Given the description of an element on the screen output the (x, y) to click on. 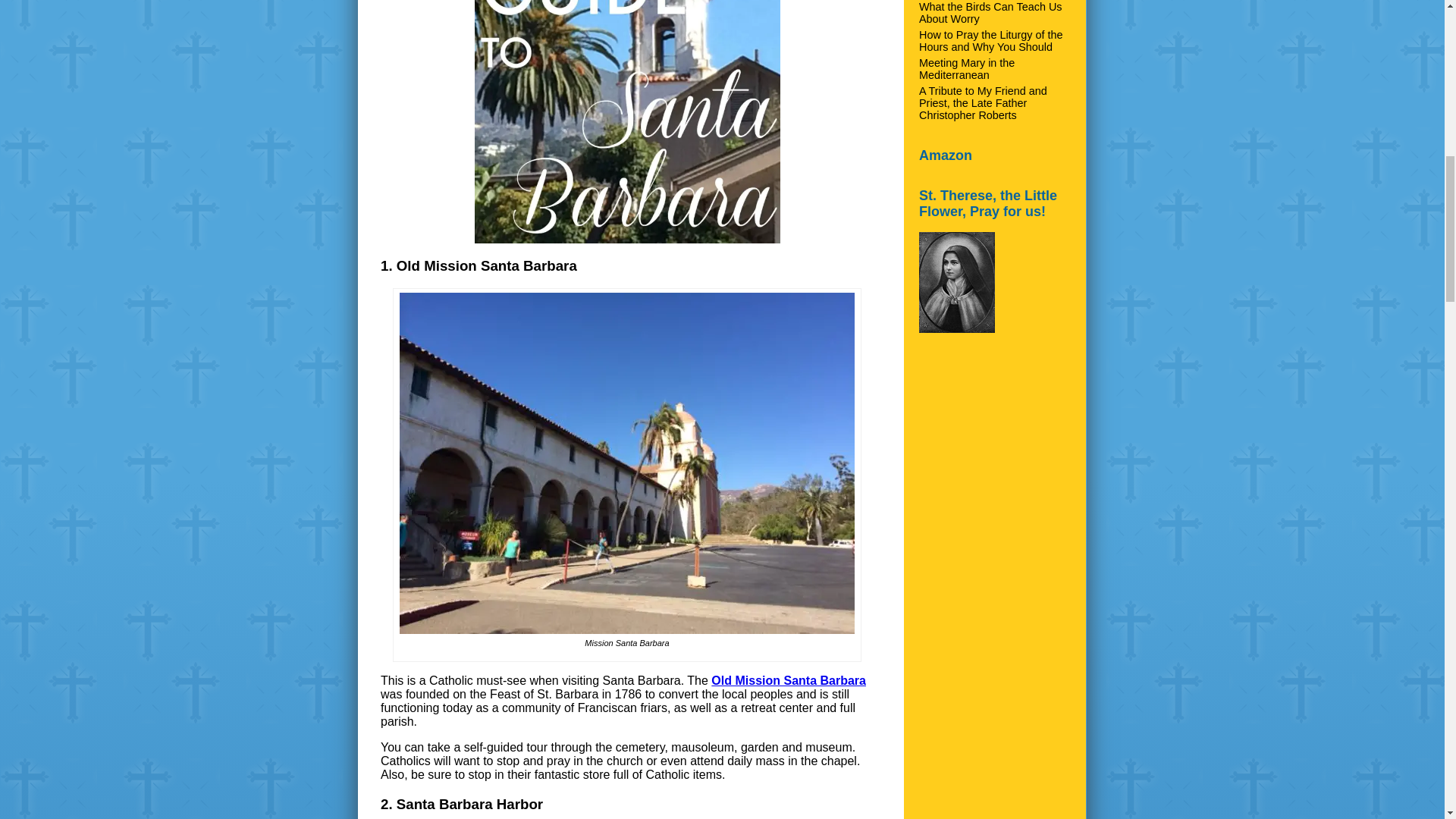
Meeting Mary in the Mediterranean (966, 68)
What the Birds Can Teach Us About Worry (990, 12)
Old Mission Santa Barbara (788, 680)
How to Pray the Liturgy of the Hours and Why You Should (990, 40)
